Given the description of an element on the screen output the (x, y) to click on. 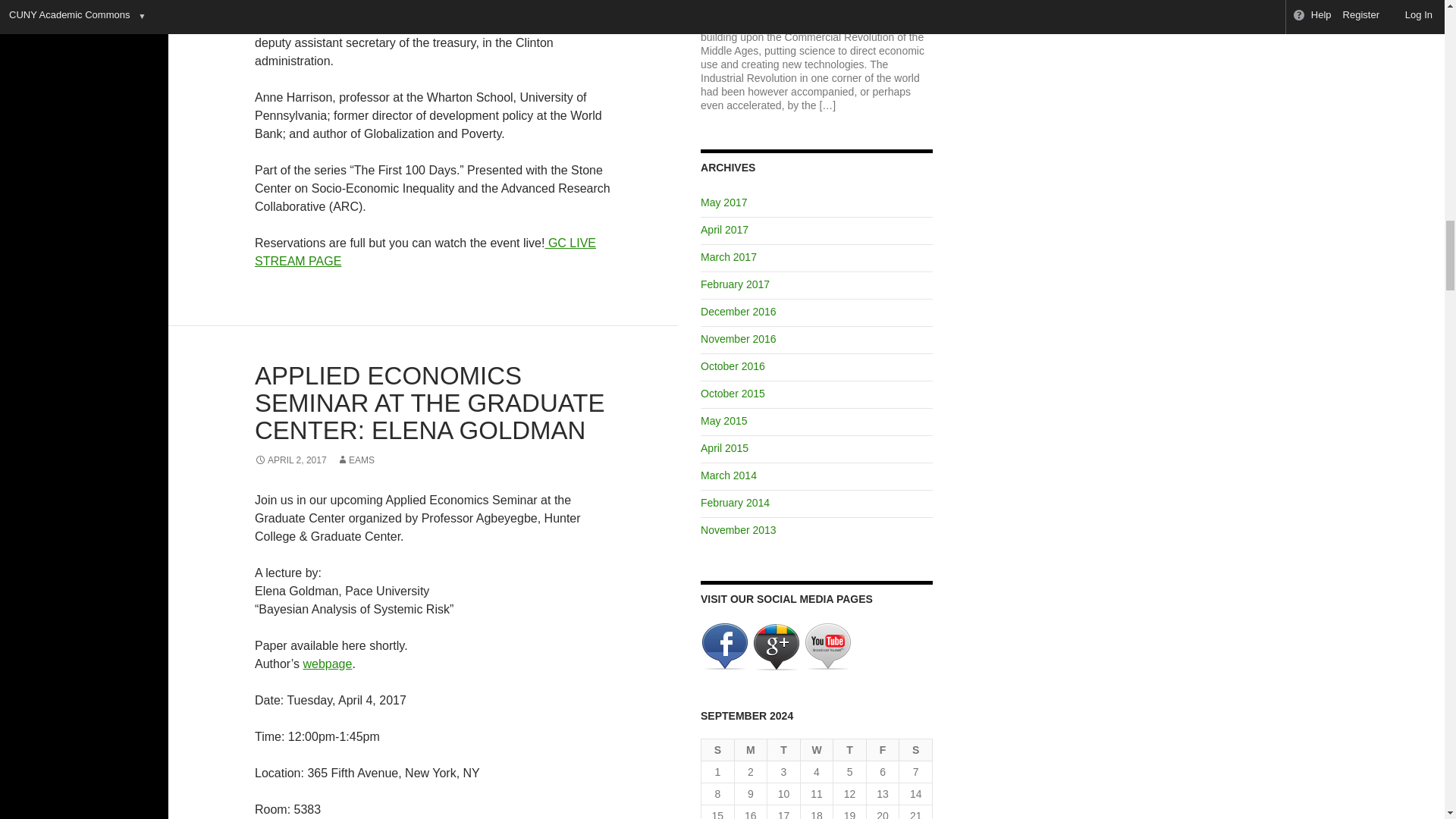
Youtube (827, 644)
Facebook (724, 644)
Thursday (849, 750)
EAMS (355, 460)
Wednesday (817, 750)
Friday (882, 750)
APRIL 2, 2017 (290, 460)
Saturday (916, 750)
Monday (751, 750)
